Given the description of an element on the screen output the (x, y) to click on. 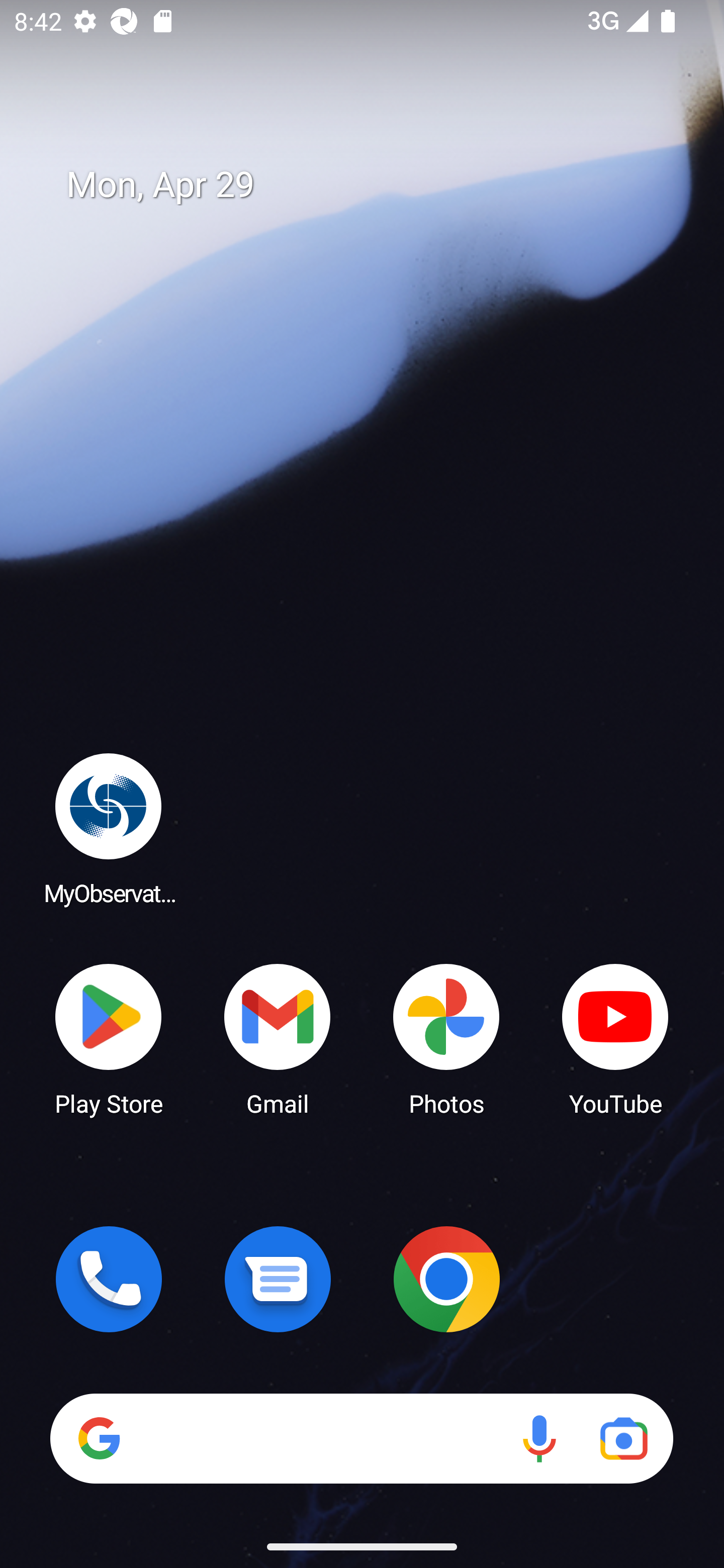
Mon, Apr 29 (375, 184)
MyObservatory (108, 828)
Play Store (108, 1038)
Gmail (277, 1038)
Photos (445, 1038)
YouTube (615, 1038)
Phone (108, 1279)
Messages (277, 1279)
Chrome (446, 1279)
Voice search (539, 1438)
Google Lens (623, 1438)
